Given the description of an element on the screen output the (x, y) to click on. 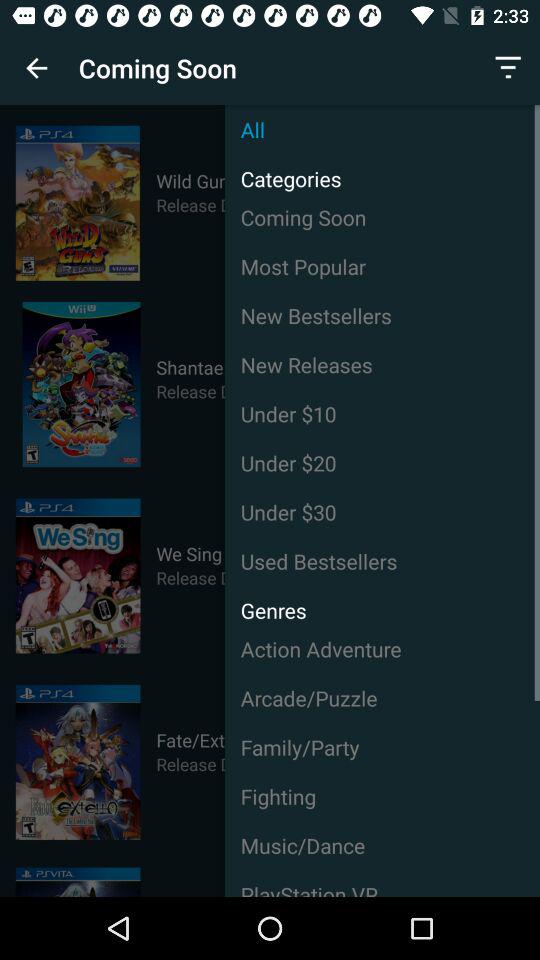
choose icon to the left of coming soon item (36, 68)
